Given the description of an element on the screen output the (x, y) to click on. 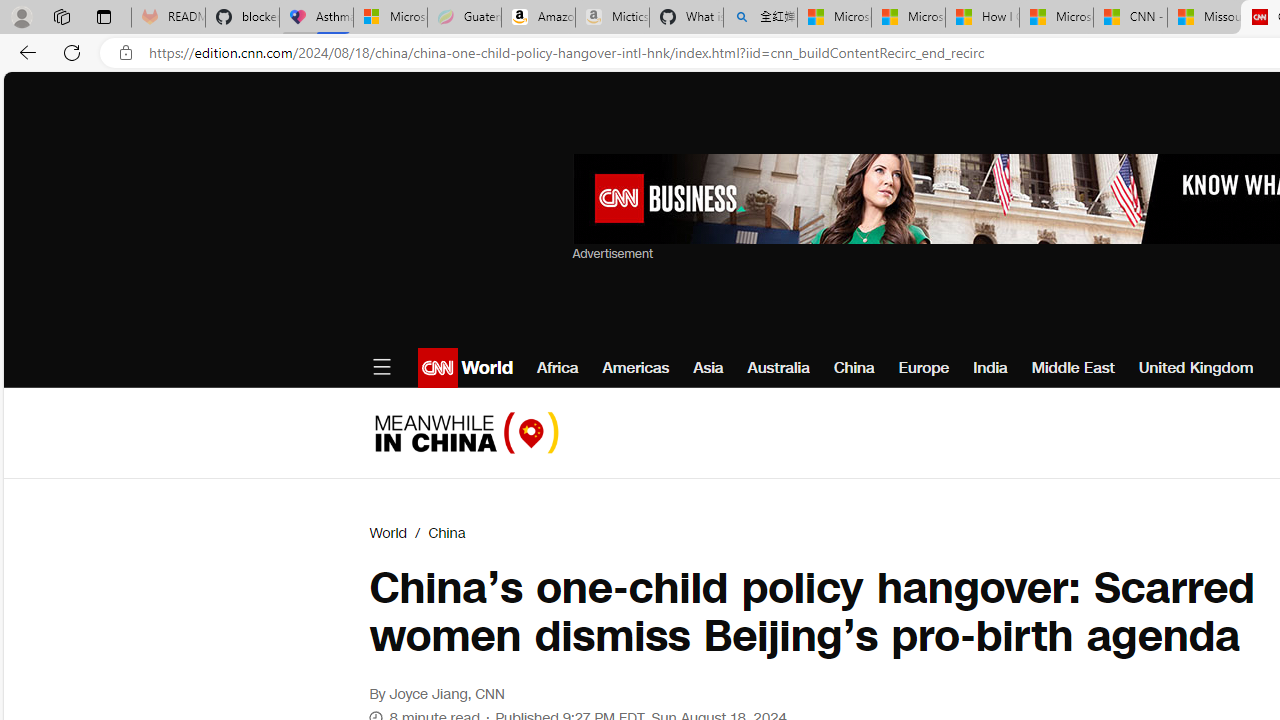
Meanwhile in China (465, 432)
Middle East (1072, 367)
Australia (778, 367)
Africa (557, 367)
CNN logo (437, 367)
